Given the description of an element on the screen output the (x, y) to click on. 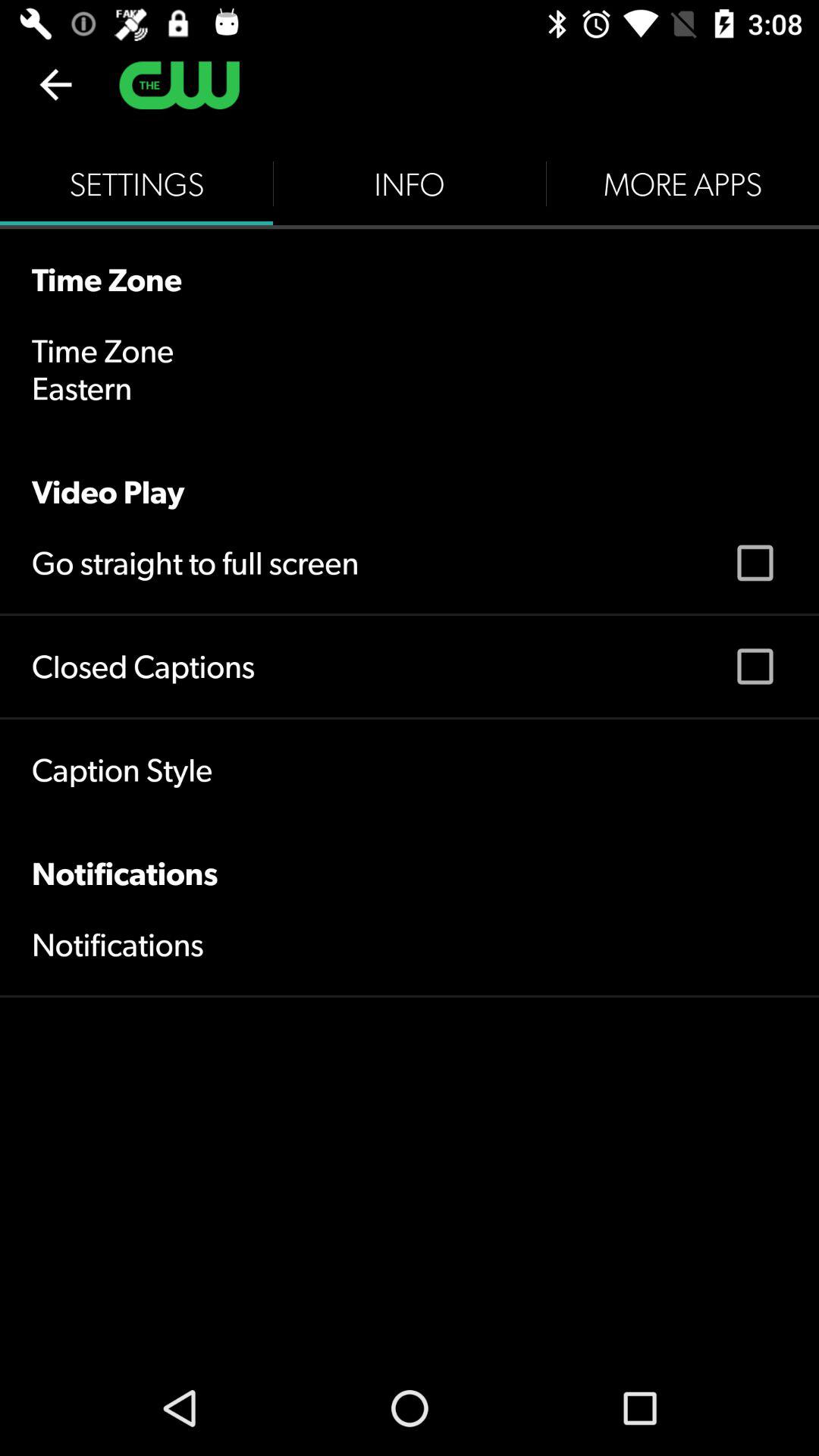
turn on icon above closed captions (194, 562)
